Given the description of an element on the screen output the (x, y) to click on. 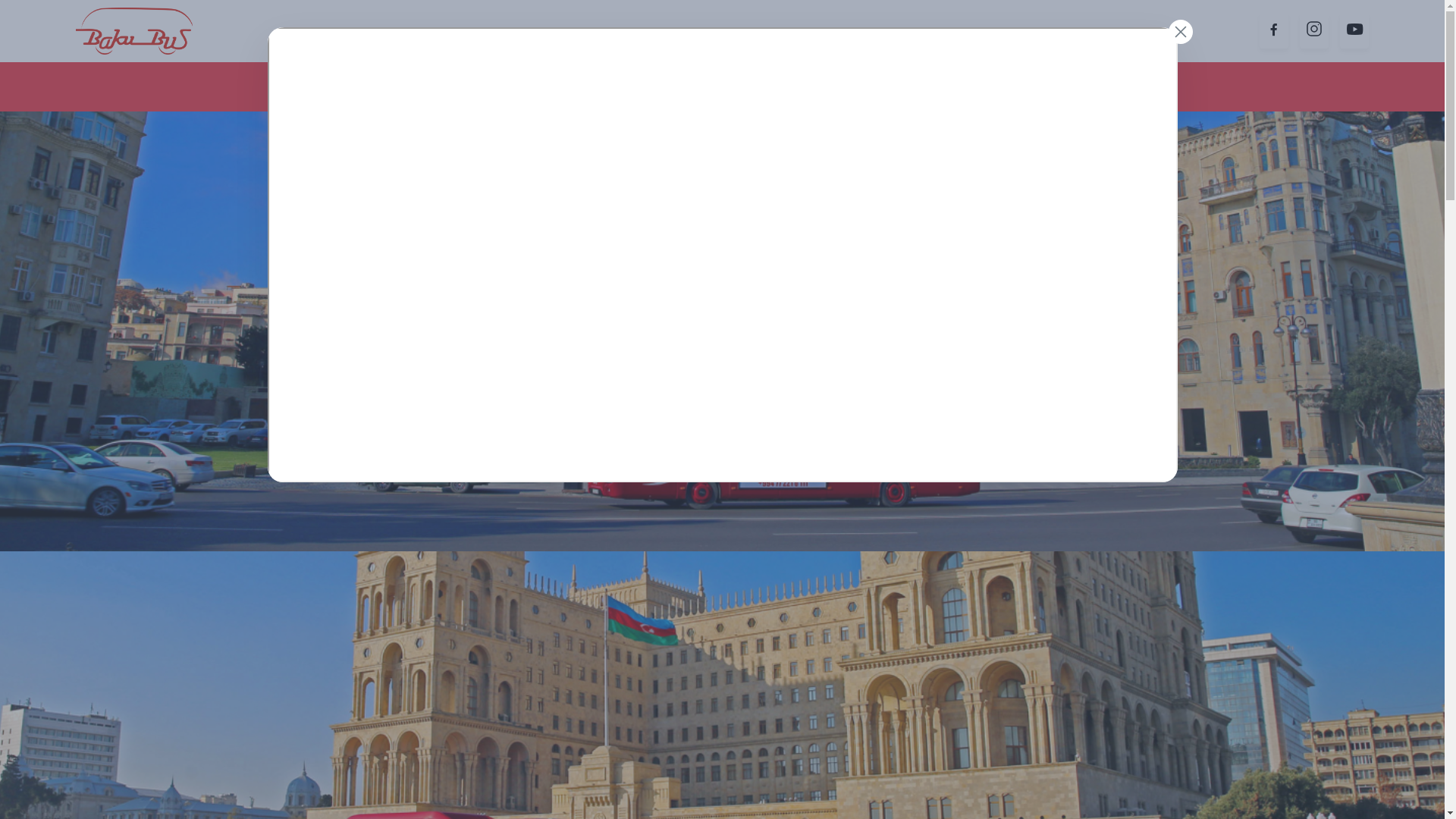
Media Element type: text (1039, 86)
Karyera Element type: text (1147, 86)
